Given the description of an element on the screen output the (x, y) to click on. 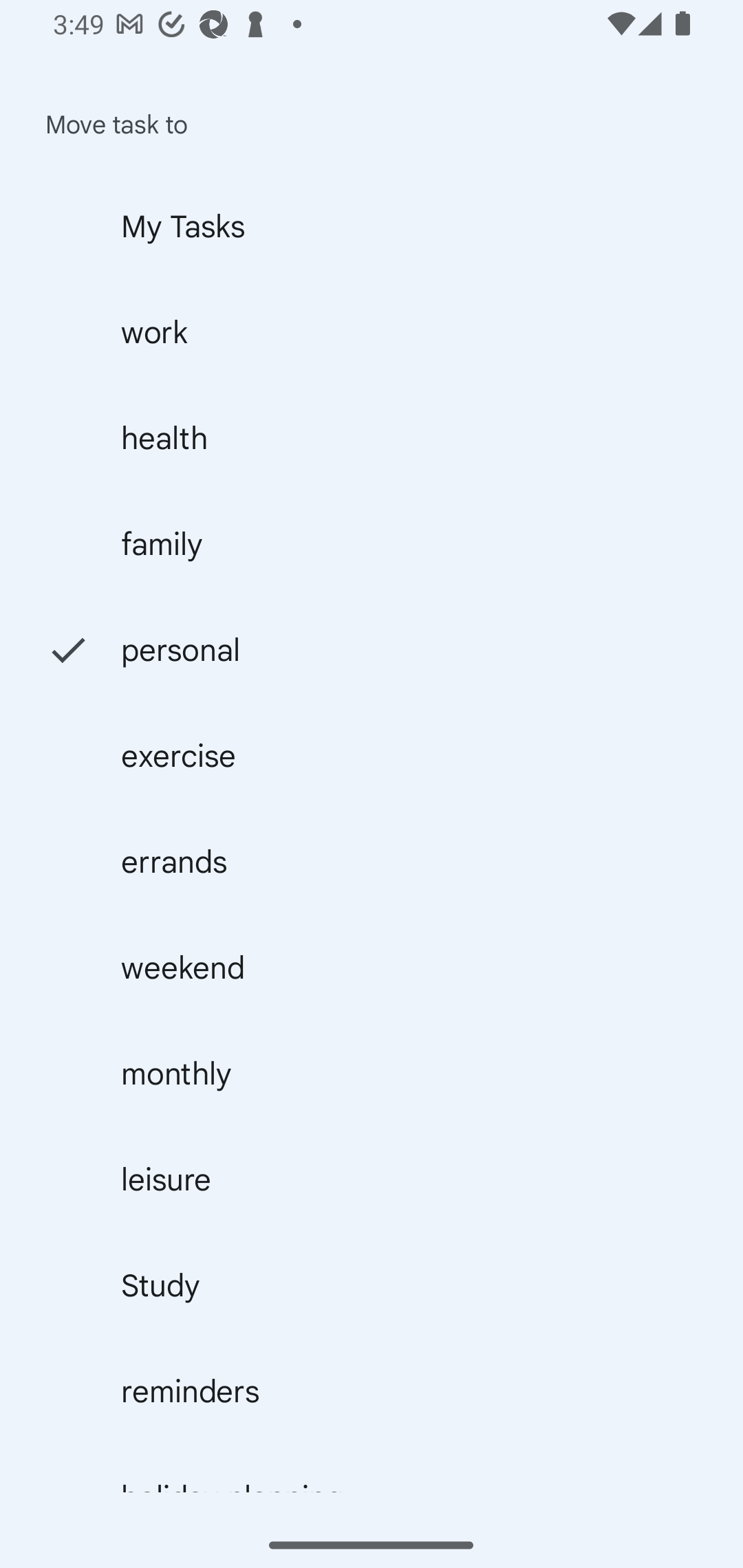
My Tasks (371, 226)
work (371, 332)
health (371, 437)
family (371, 543)
personal (371, 649)
exercise (371, 755)
errands (371, 861)
weekend (371, 967)
monthly (371, 1072)
leisure (371, 1178)
Study (371, 1285)
reminders (371, 1391)
